Given the description of an element on the screen output the (x, y) to click on. 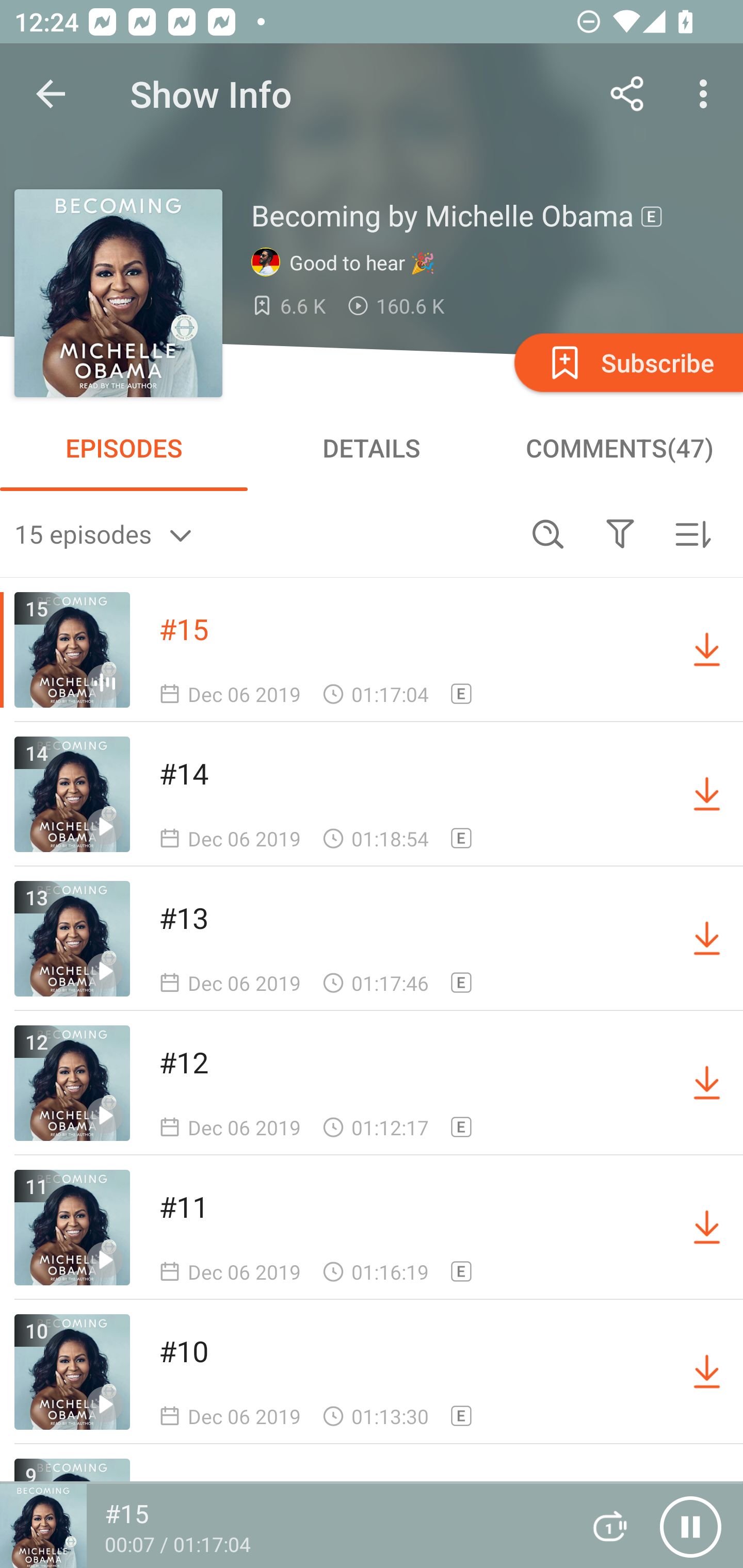
Navigate up (50, 93)
Share (626, 93)
More options (706, 93)
Good to hear 🎉 (348, 262)
Subscribe (627, 361)
EPISODES (123, 447)
DETAILS (371, 447)
COMMENTS(47) (619, 447)
15 episodes  (262, 533)
 Search (547, 533)
 (619, 533)
 Sorted by newest first (692, 533)
Download (706, 649)
Download (706, 793)
Download (706, 939)
Download (706, 1083)
Download (706, 1227)
Download (706, 1371)
#15 00:07 / 01:17:04 (283, 1525)
Pause (690, 1526)
